Given the description of an element on the screen output the (x, y) to click on. 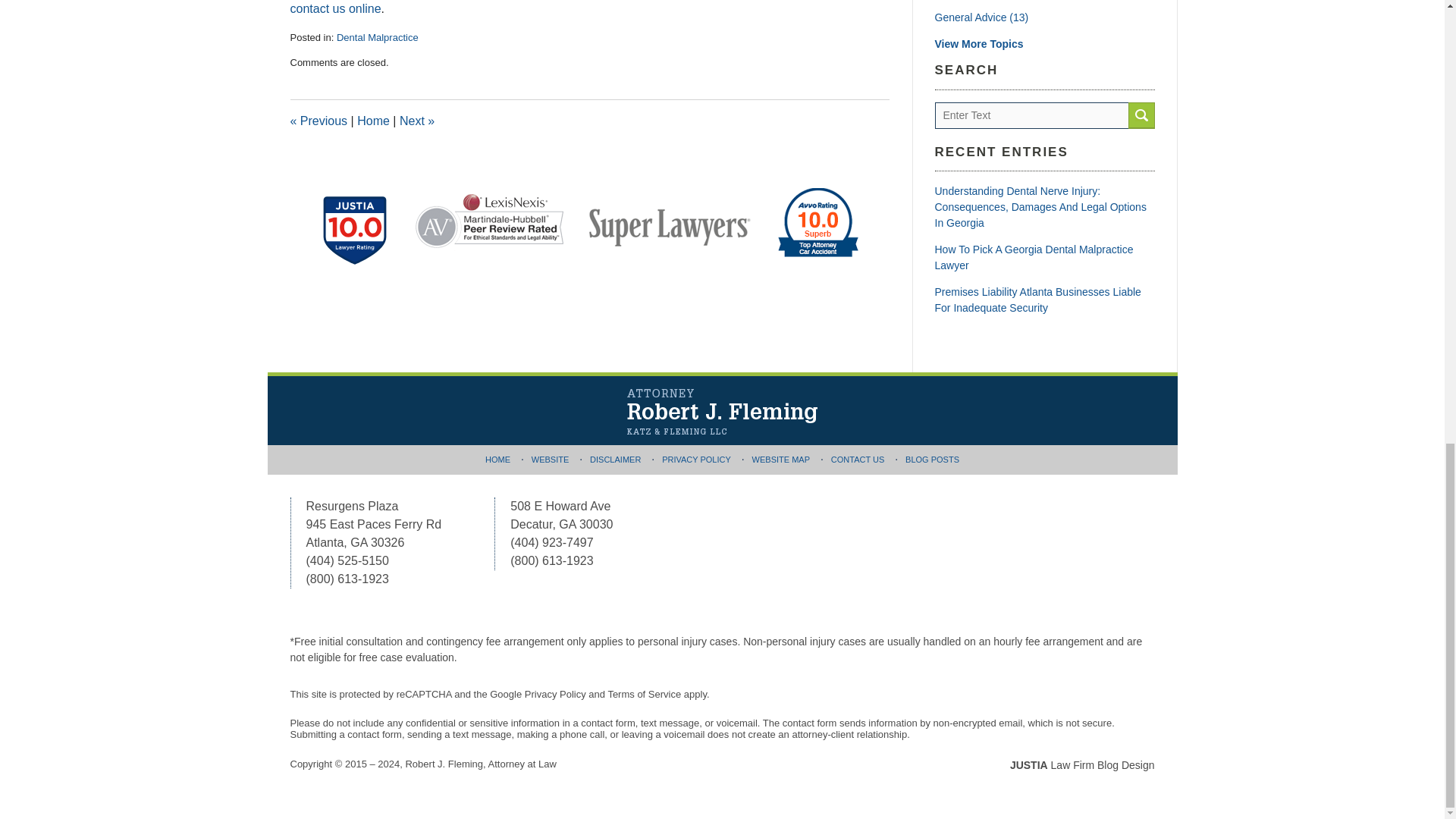
Dental Malpractice (377, 37)
View all posts in Dental Malpractice (377, 37)
contact us online (334, 8)
Home (373, 120)
